Given the description of an element on the screen output the (x, y) to click on. 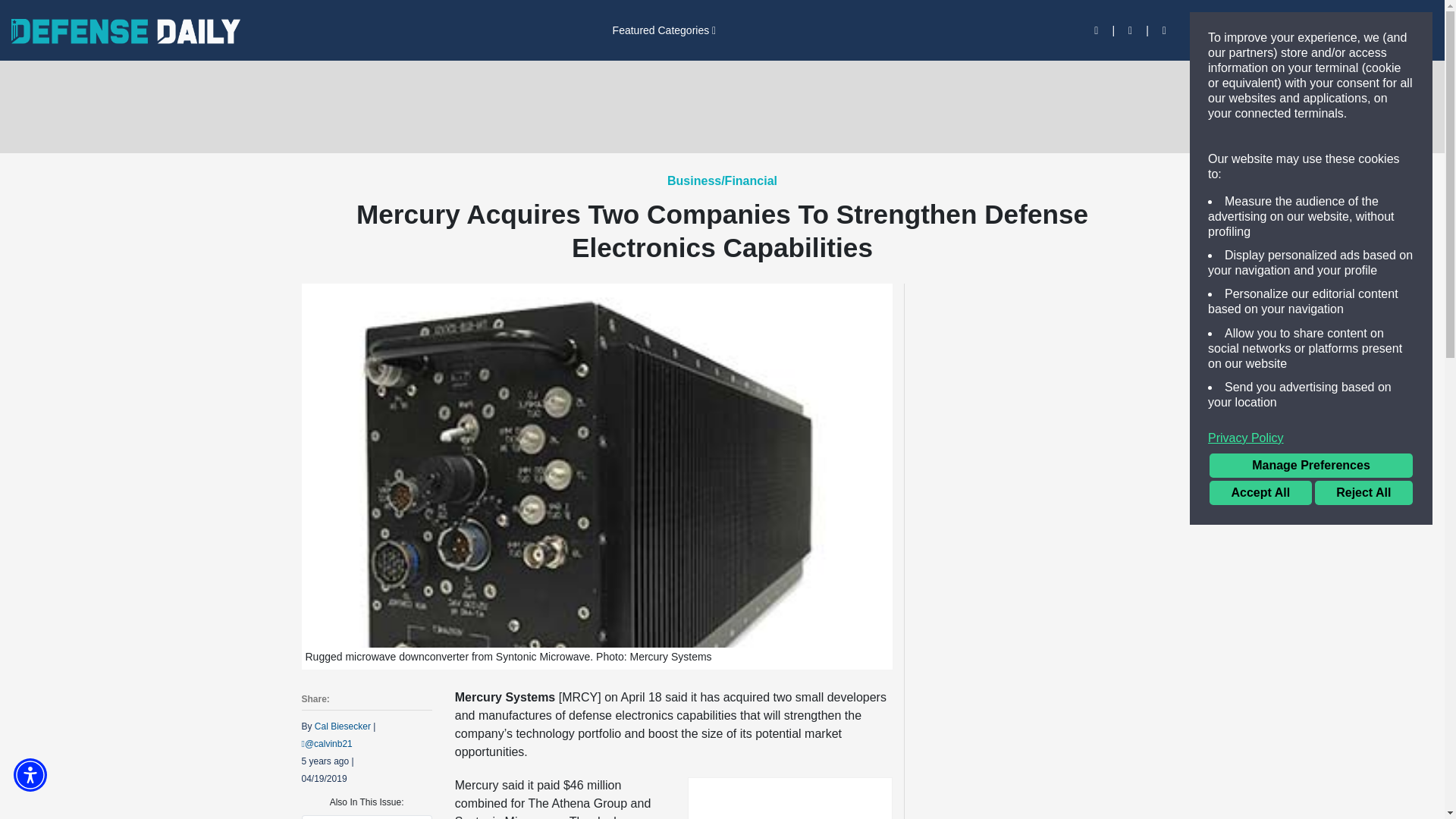
Accept All (1260, 492)
Manage Preferences (1310, 465)
Reject All (1363, 492)
Accessibility Menu (29, 774)
Privacy Policy (1310, 437)
Signup (1257, 30)
